Given the description of an element on the screen output the (x, y) to click on. 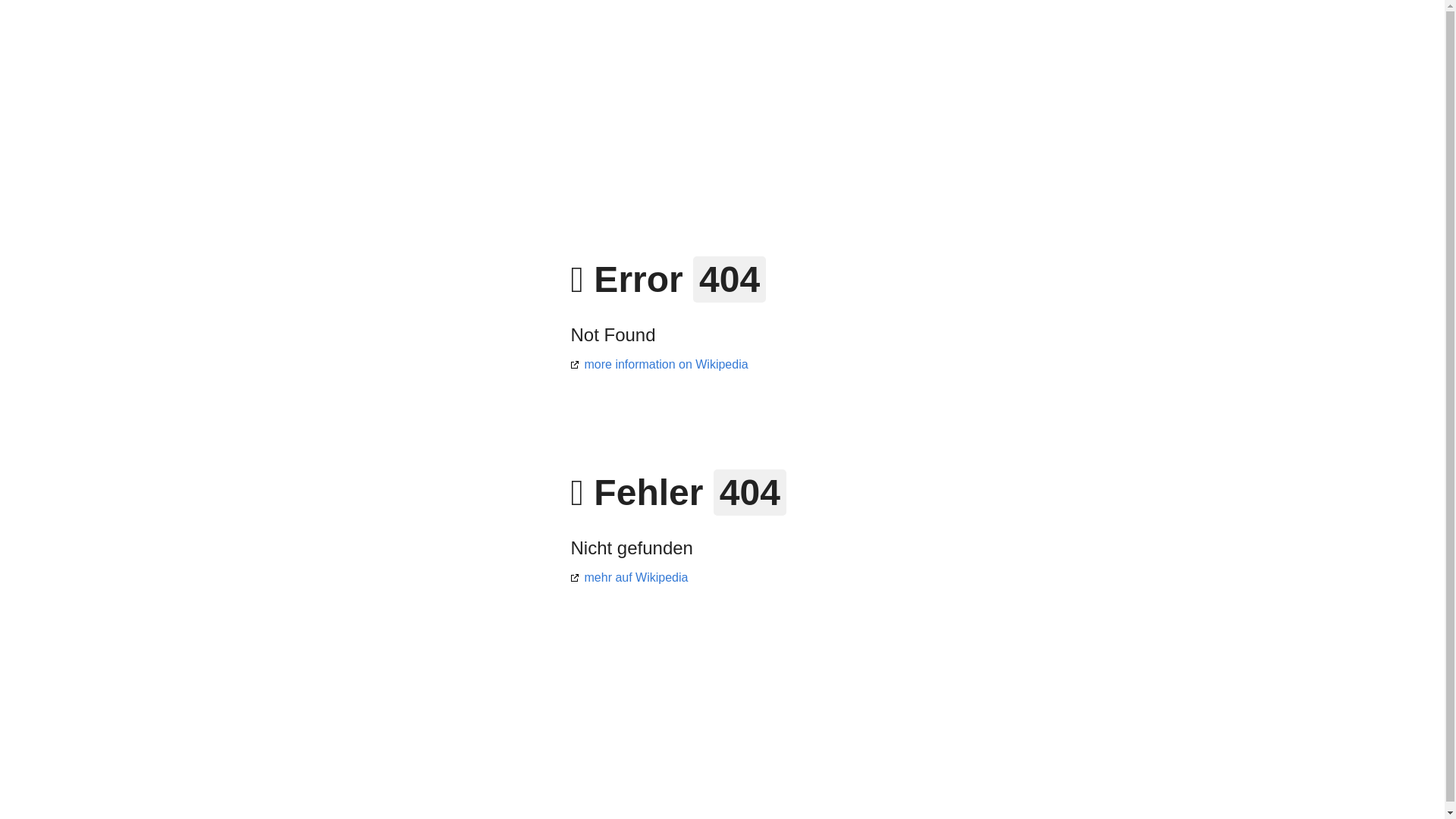
more information on Wikipedia Element type: text (658, 363)
mehr auf Wikipedia Element type: text (628, 577)
